Given the description of an element on the screen output the (x, y) to click on. 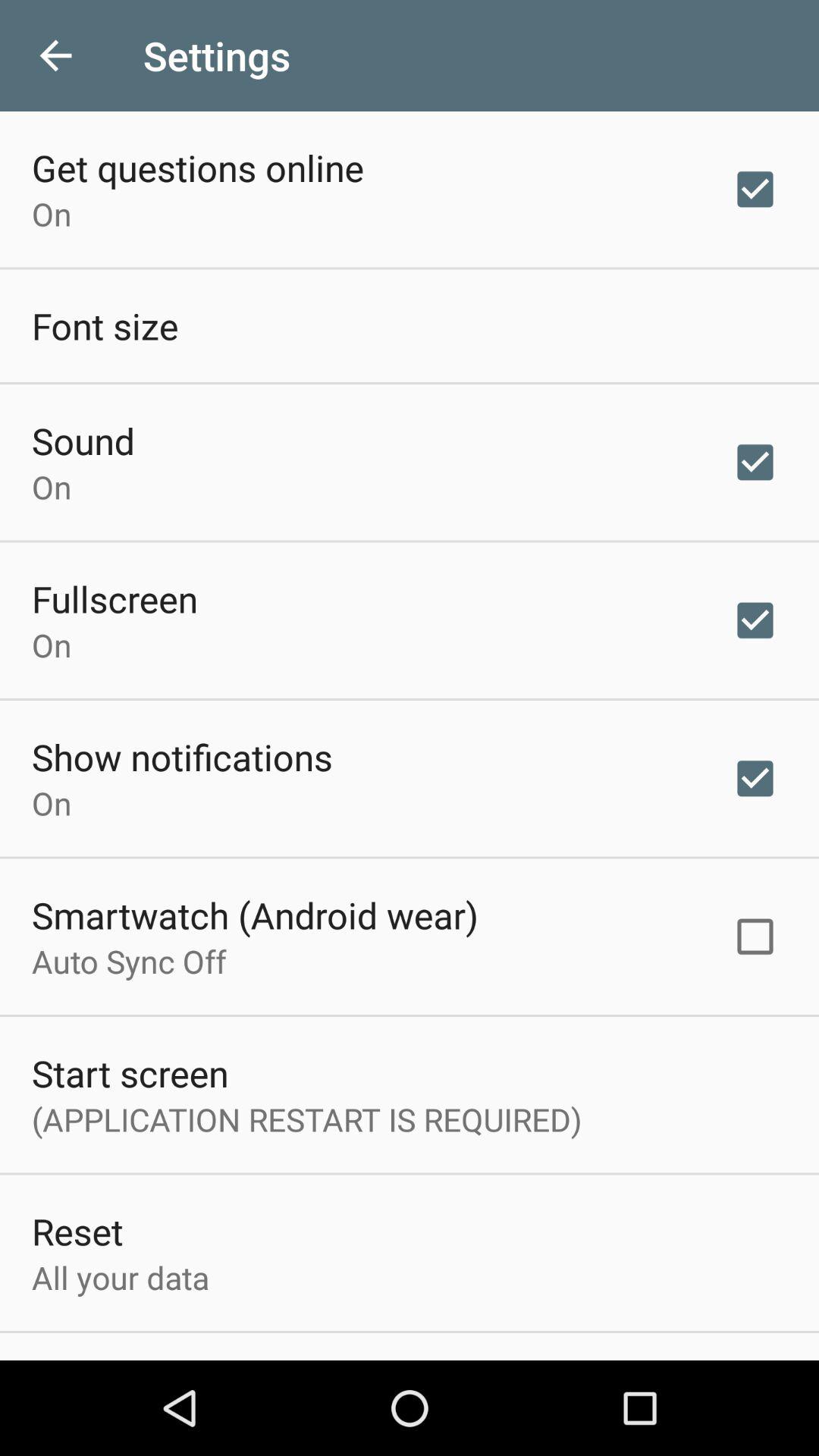
turn off item below the start screen icon (306, 1118)
